Given the description of an element on the screen output the (x, y) to click on. 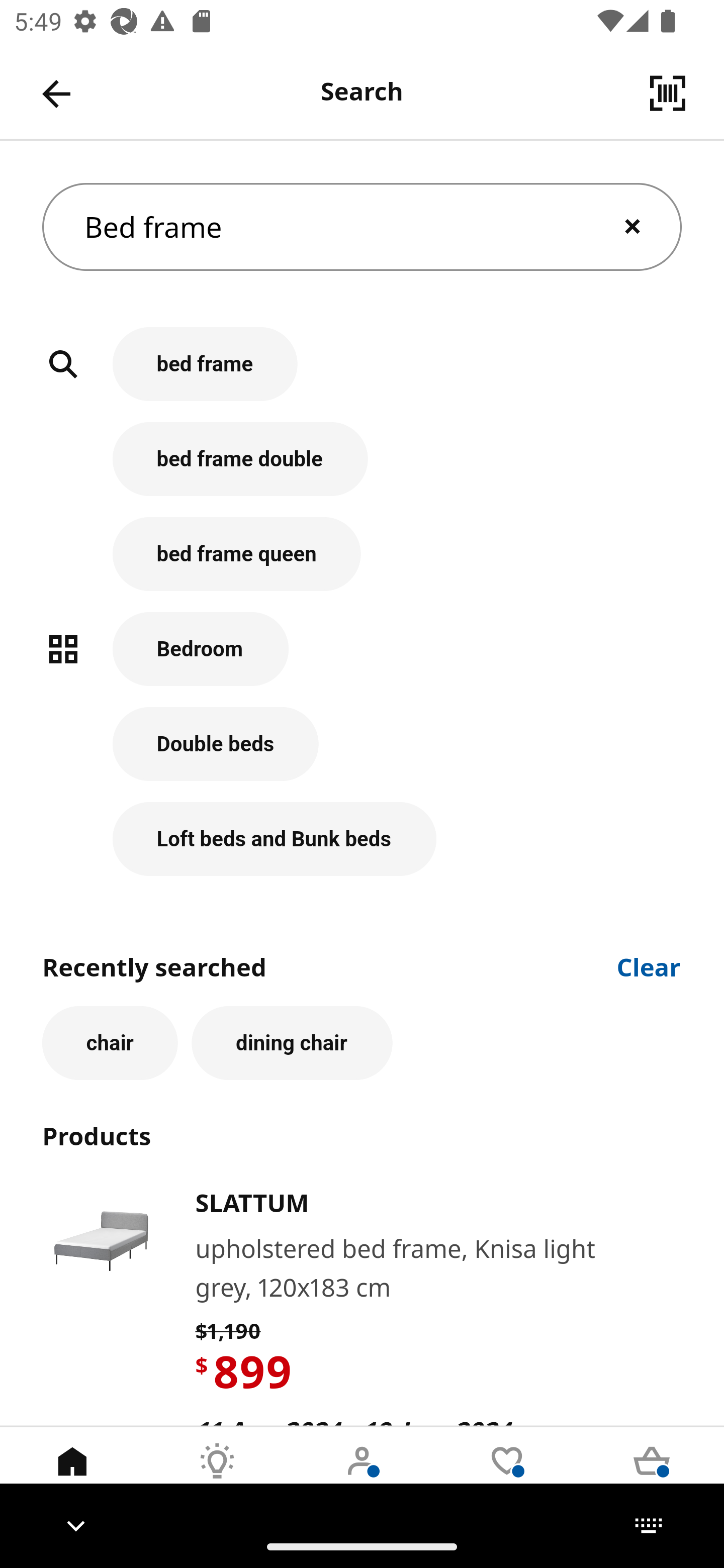
Bed frame (361, 227)
bed frame (361, 374)
bed frame double (361, 469)
bed frame queen (361, 564)
Bedroom (361, 659)
Double beds (361, 754)
Loft beds and Bunk beds (361, 839)
Clear (649, 965)
chair (109, 1043)
dining chair (291, 1043)
Home
Tab 1 of 5 (72, 1476)
Inspirations
Tab 2 of 5 (216, 1476)
User
Tab 3 of 5 (361, 1476)
Wishlist
Tab 4 of 5 (506, 1476)
Cart
Tab 5 of 5 (651, 1476)
